Given the description of an element on the screen output the (x, y) to click on. 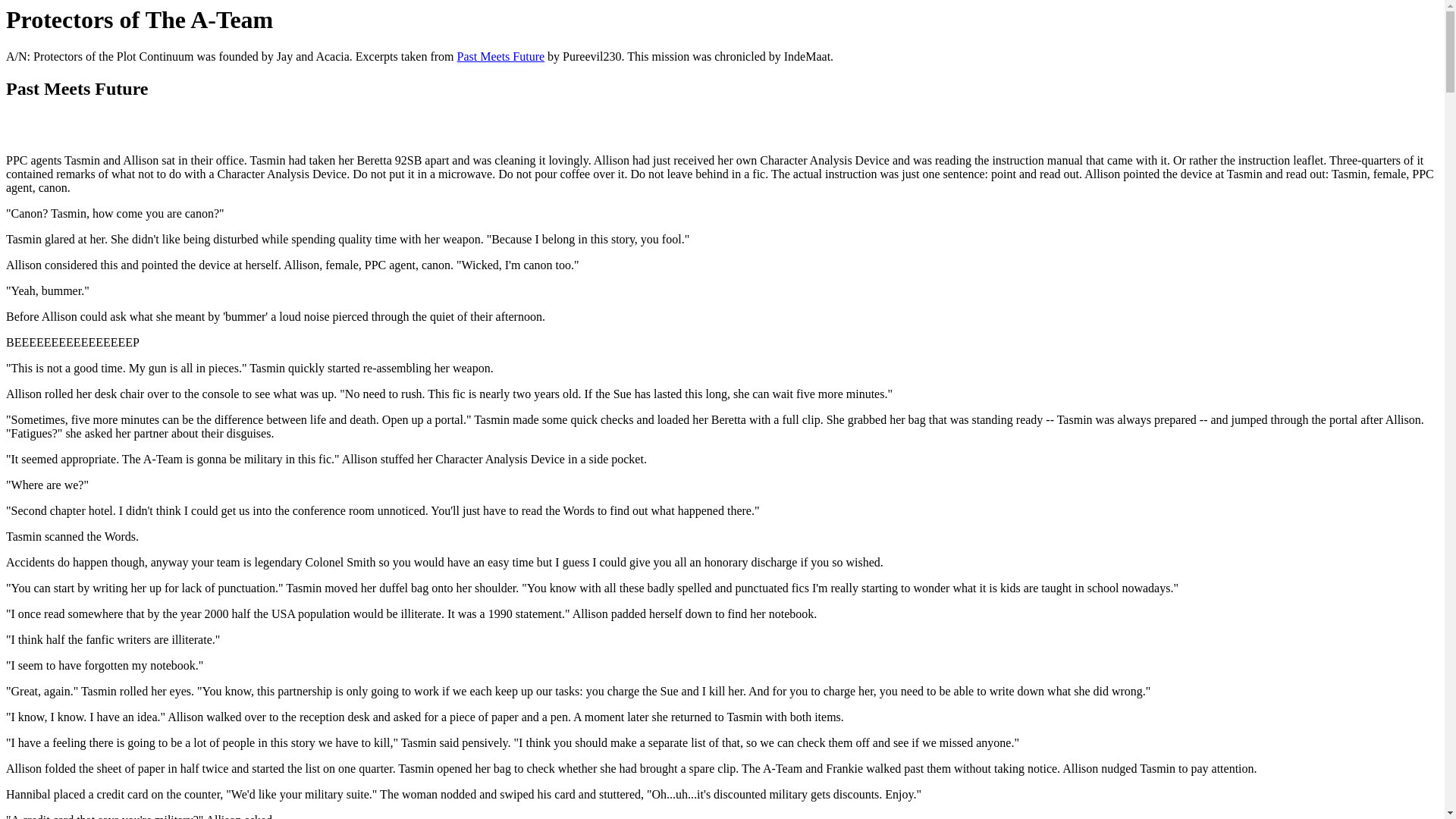
Past Meets Future (500, 56)
